Given the description of an element on the screen output the (x, y) to click on. 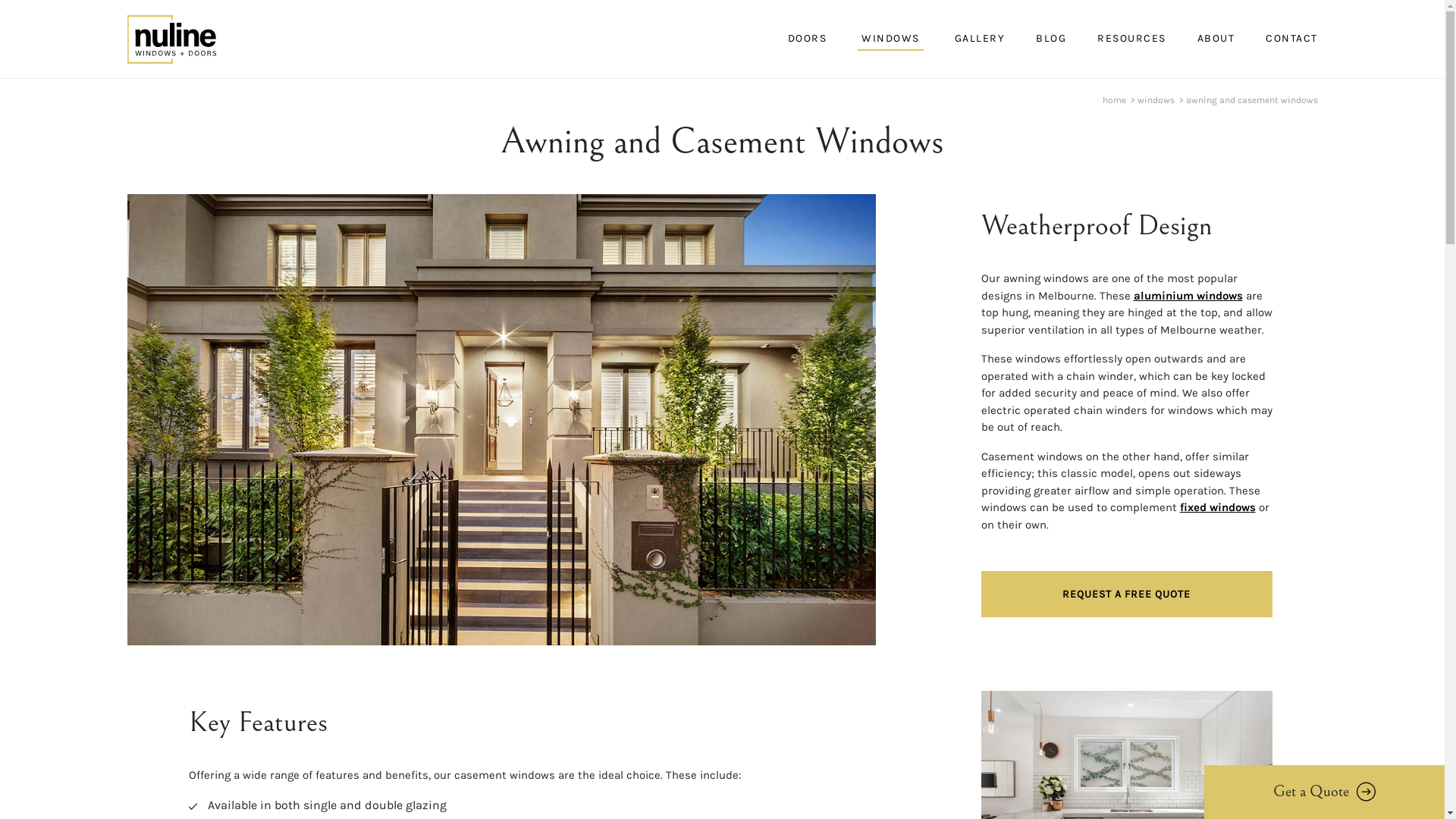
windows Element type: text (1155, 99)
nuline Element type: hover (170, 39)
DOORS Element type: text (807, 39)
REQUEST A FREE QUOTE Element type: text (1126, 594)
BLOG Element type: text (1049, 39)
GALLERY Element type: text (977, 39)
home Element type: text (1114, 99)
fixed windows Element type: text (1217, 507)
ABOUT Element type: text (1214, 39)
RESOURCES Element type: text (1129, 39)
aluminium windows Element type: text (1187, 295)
CONTACT Element type: text (1289, 39)
WINDOWS Element type: text (890, 39)
